Given the description of an element on the screen output the (x, y) to click on. 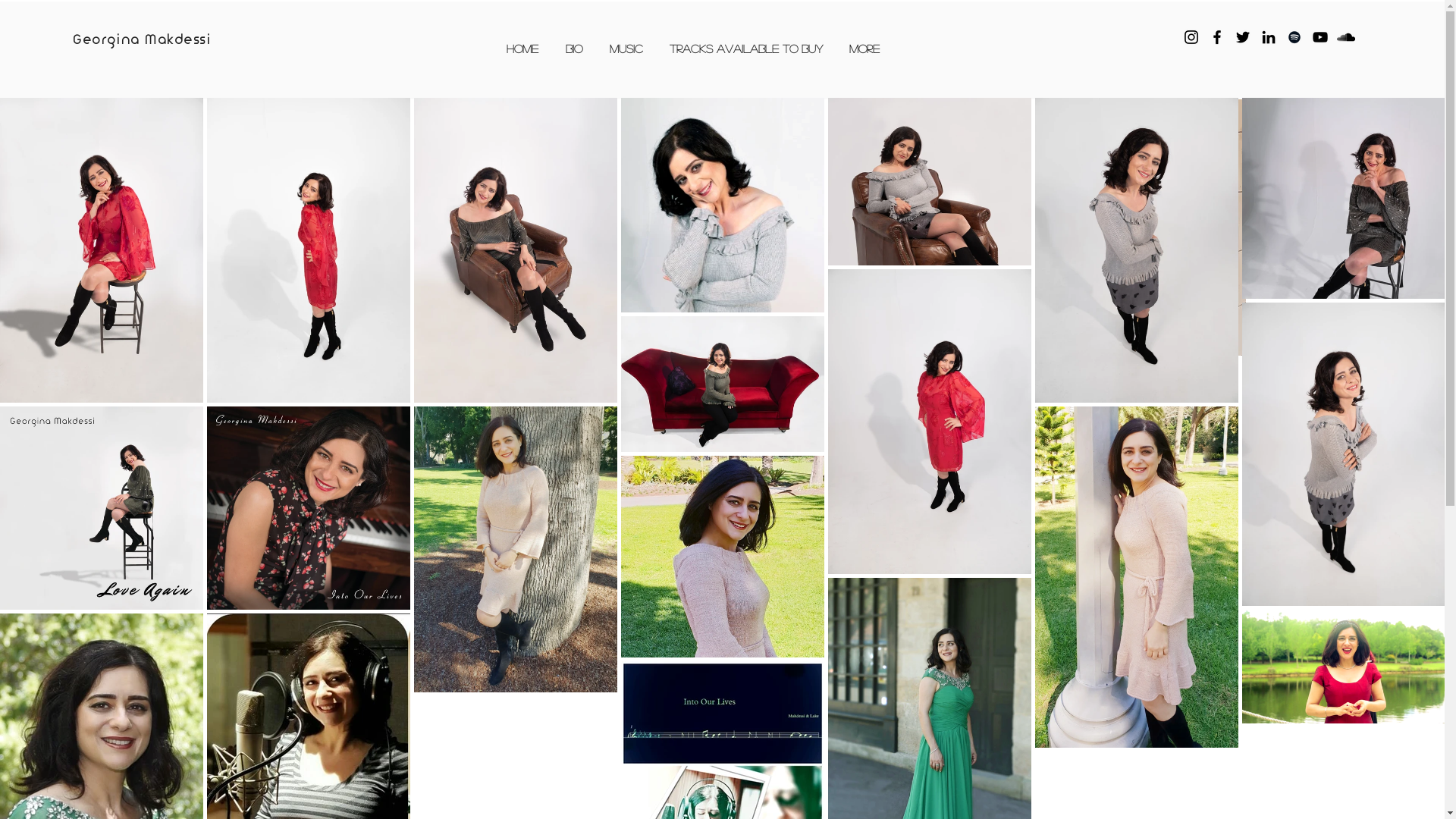
HOME Element type: text (522, 47)
Georgina  Element type: text (109, 39)
MUSIC Element type: text (626, 47)
Tracks Available to Buy Element type: text (746, 47)
BIO Element type: text (574, 47)
